Given the description of an element on the screen output the (x, y) to click on. 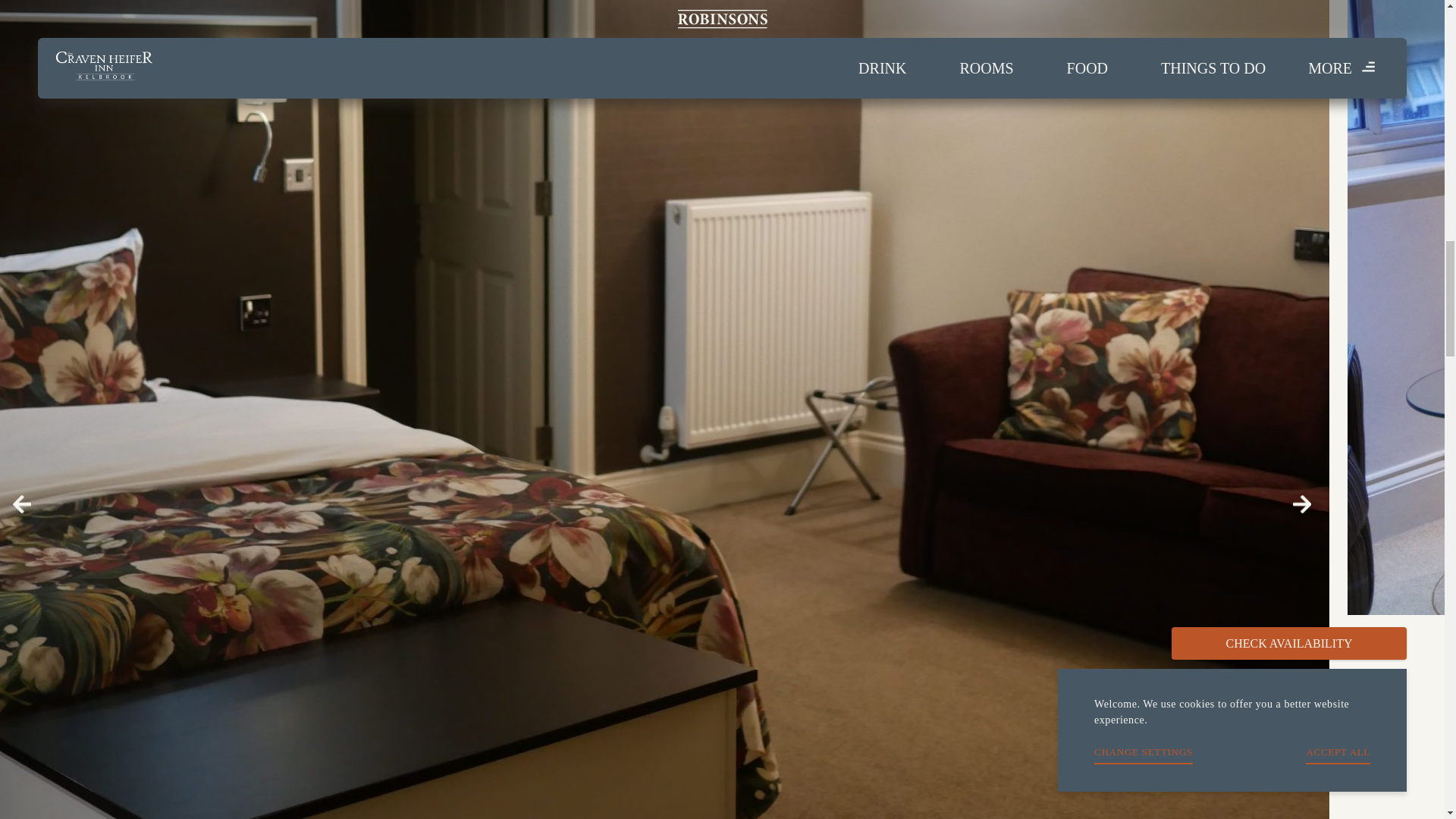
Previous (20, 504)
Next (1301, 504)
